Given the description of an element on the screen output the (x, y) to click on. 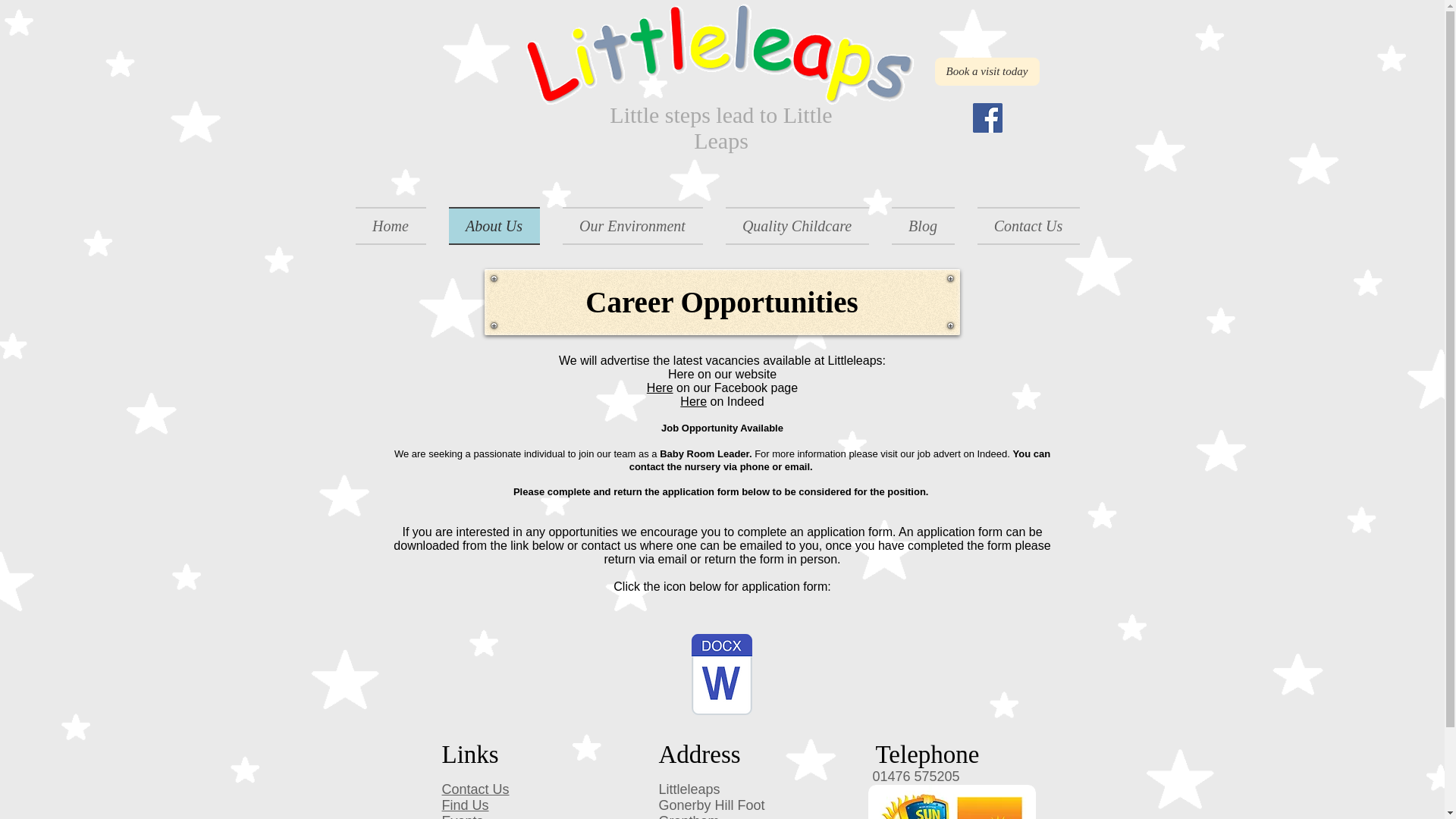
Here (659, 387)
logo.PNG (720, 59)
Quality Childcare (797, 225)
Find Us (464, 805)
Events (462, 816)
Contact Us (1023, 225)
Blog (922, 225)
Contact Us (474, 789)
Home (395, 225)
Book a visit today (986, 71)
